Given the description of an element on the screen output the (x, y) to click on. 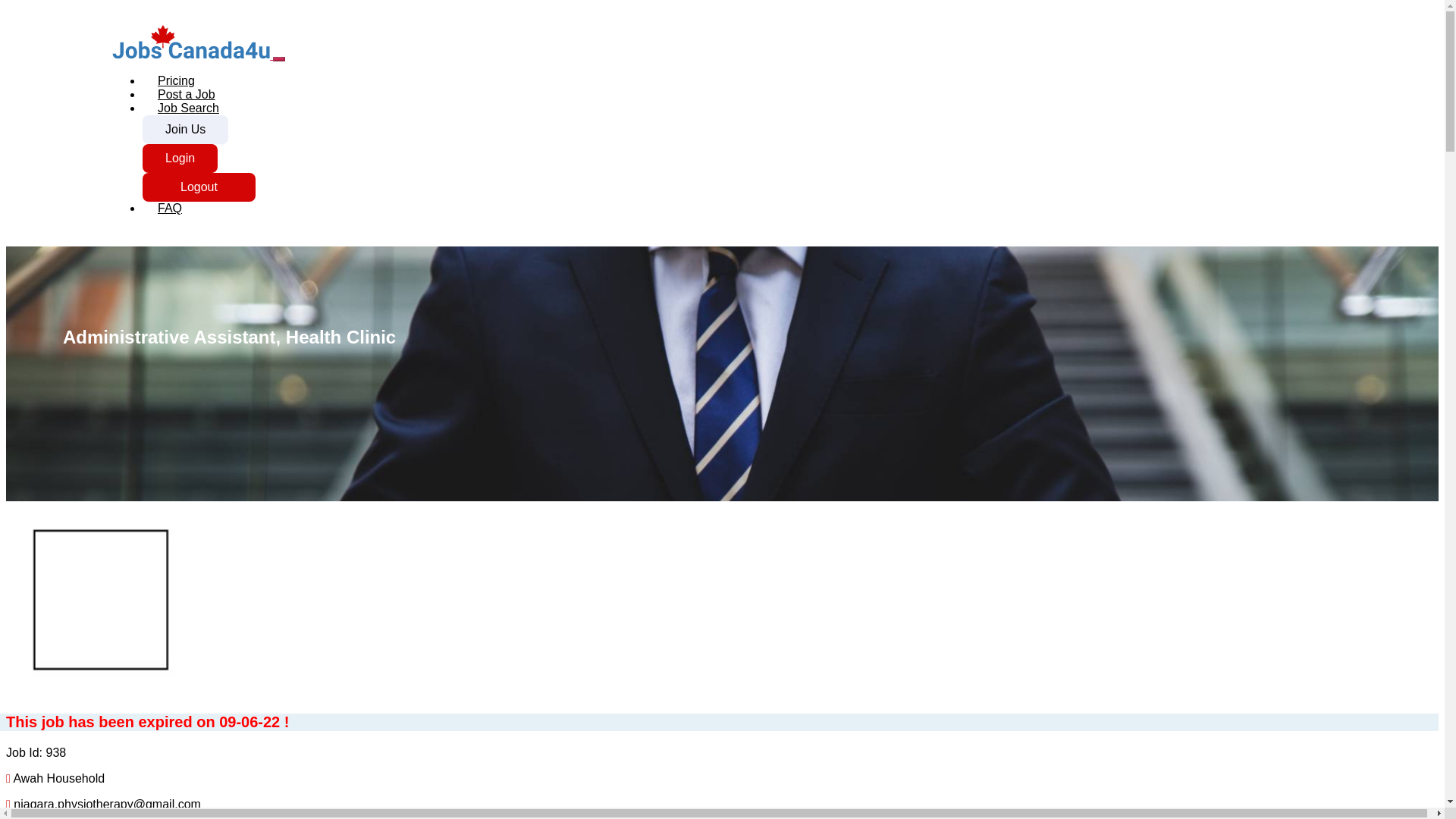
Join Us (185, 129)
Job Search (188, 107)
Pricing (175, 80)
Post a Job (186, 93)
Login (179, 158)
Logout (198, 186)
FAQ (169, 207)
